Given the description of an element on the screen output the (x, y) to click on. 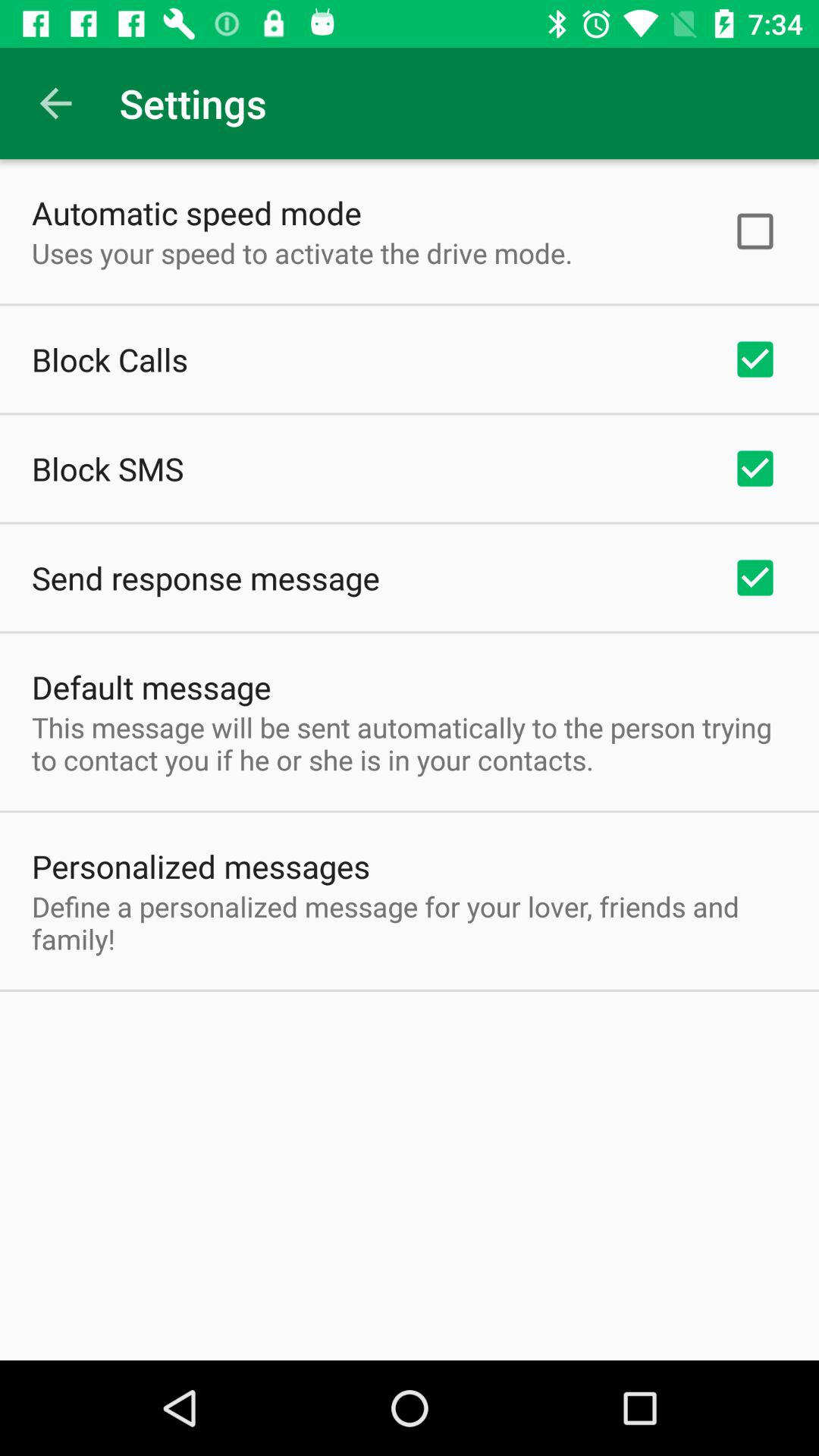
turn on item below block calls app (107, 468)
